Given the description of an element on the screen output the (x, y) to click on. 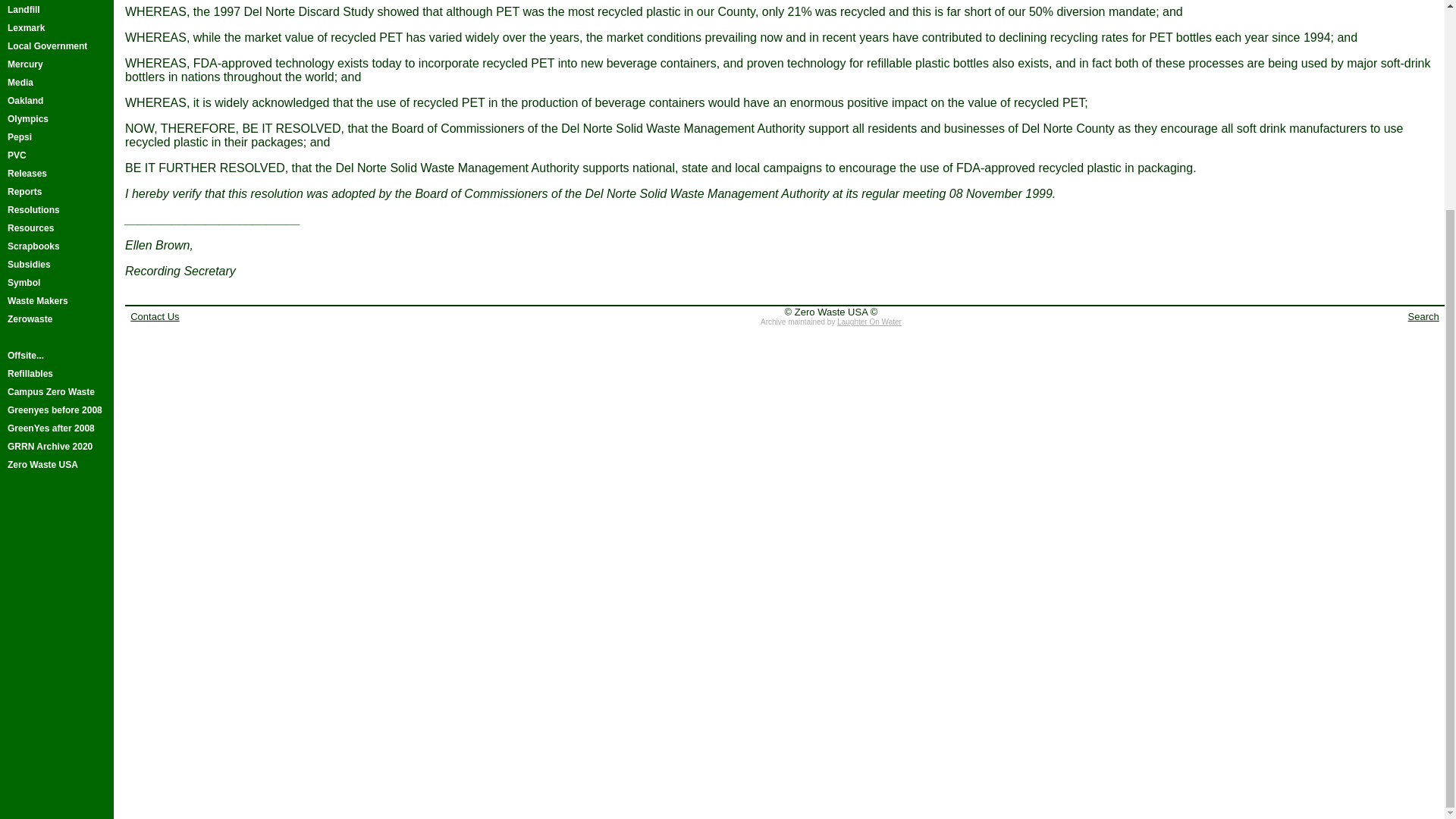
Zero Waste USA (56, 464)
Scrapbooks (56, 246)
Waste Makers (56, 300)
Contact Us (155, 315)
GreenYes after 2008 (56, 428)
Zerowaste (56, 319)
Campus Zero Waste (56, 392)
Olympics (56, 118)
GRRN Archive 2020 (56, 446)
